Given the description of an element on the screen output the (x, y) to click on. 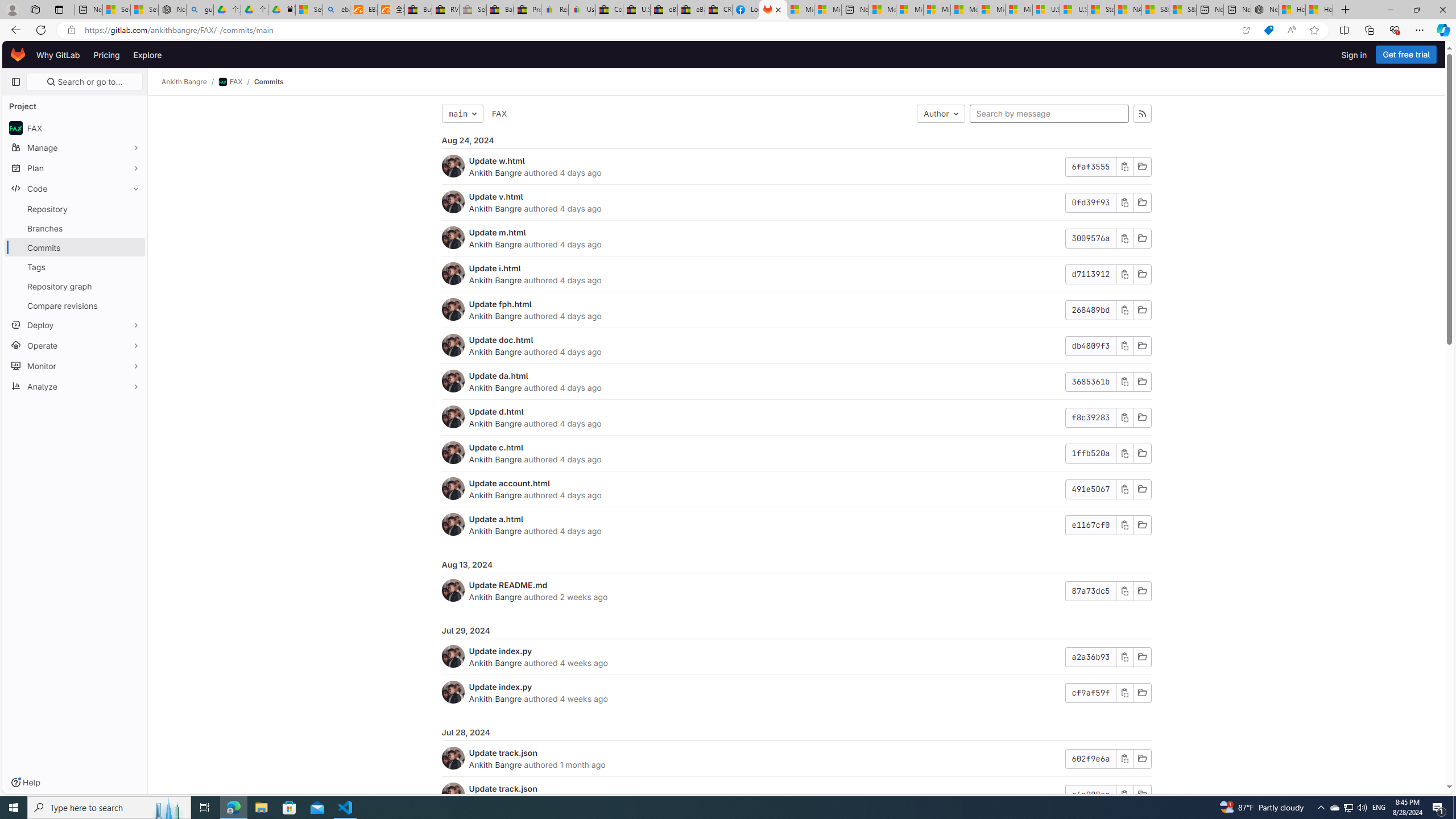
Monitor (74, 365)
Explore (146, 54)
Update track.json (502, 788)
FAX (499, 113)
Browse Files (1141, 794)
Update m.htmlAnkith Bangre authored 4 days ago3009576a (796, 238)
Update README.md (507, 584)
main (462, 113)
guge yunpan - Search (200, 9)
Update c.htmlAnkith Bangre authored 4 days ago1ffb520a (796, 453)
Update a.html (496, 519)
